Given the description of an element on the screen output the (x, y) to click on. 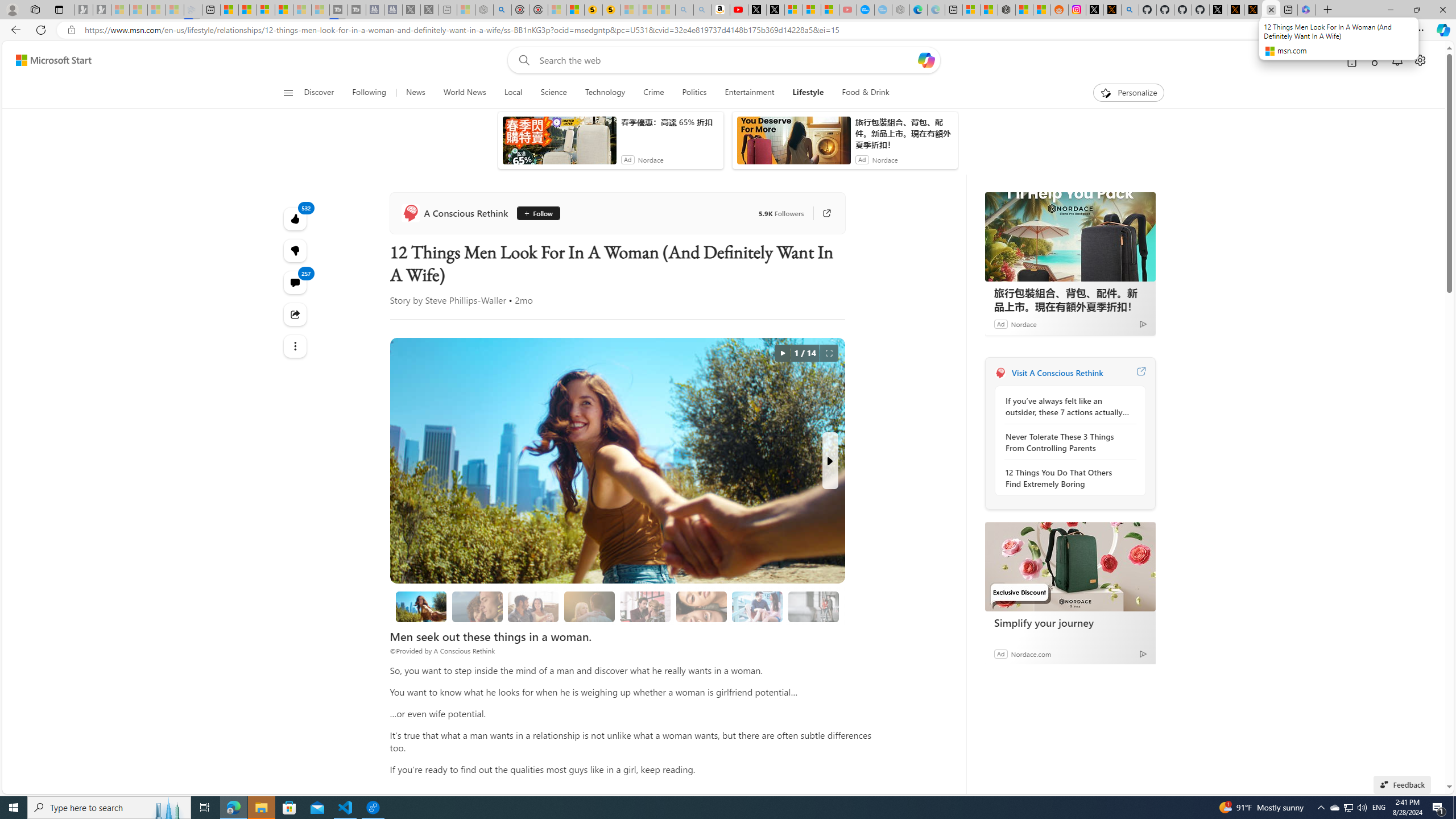
3. She is appreciative. (588, 606)
Go to publisher's site (820, 213)
Amazon Echo Dot PNG - Search Images - Sleeping (702, 9)
A Conscious Rethink (456, 212)
7. She can communicate her needs and wants. (813, 606)
Lifestyle (808, 92)
Class: button-glyph (287, 92)
Science (553, 92)
Simplify your journey (1069, 622)
Overview (265, 9)
